Given the description of an element on the screen output the (x, y) to click on. 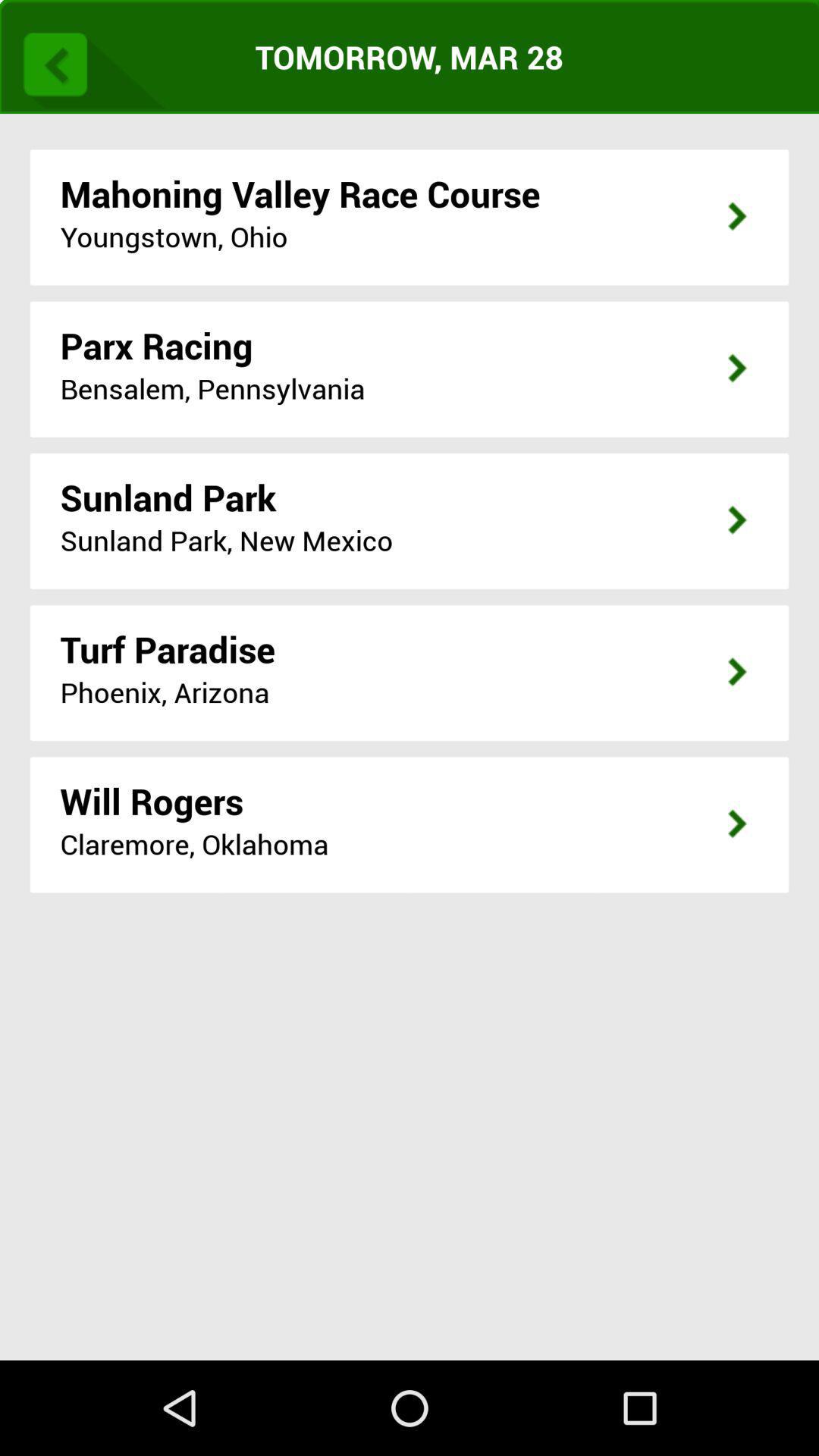
go back (89, 61)
